Given the description of an element on the screen output the (x, y) to click on. 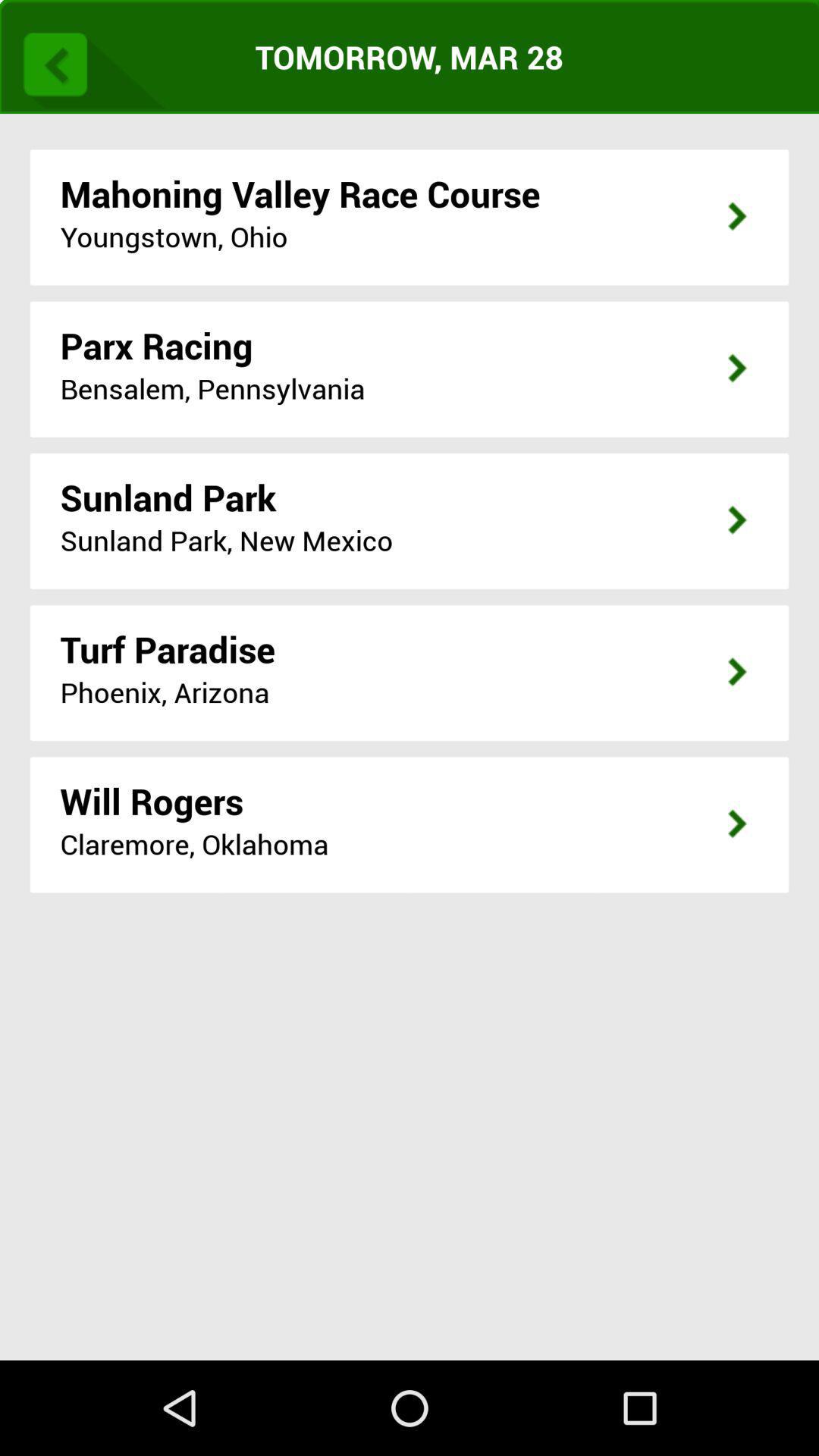
go back (89, 61)
